Given the description of an element on the screen output the (x, y) to click on. 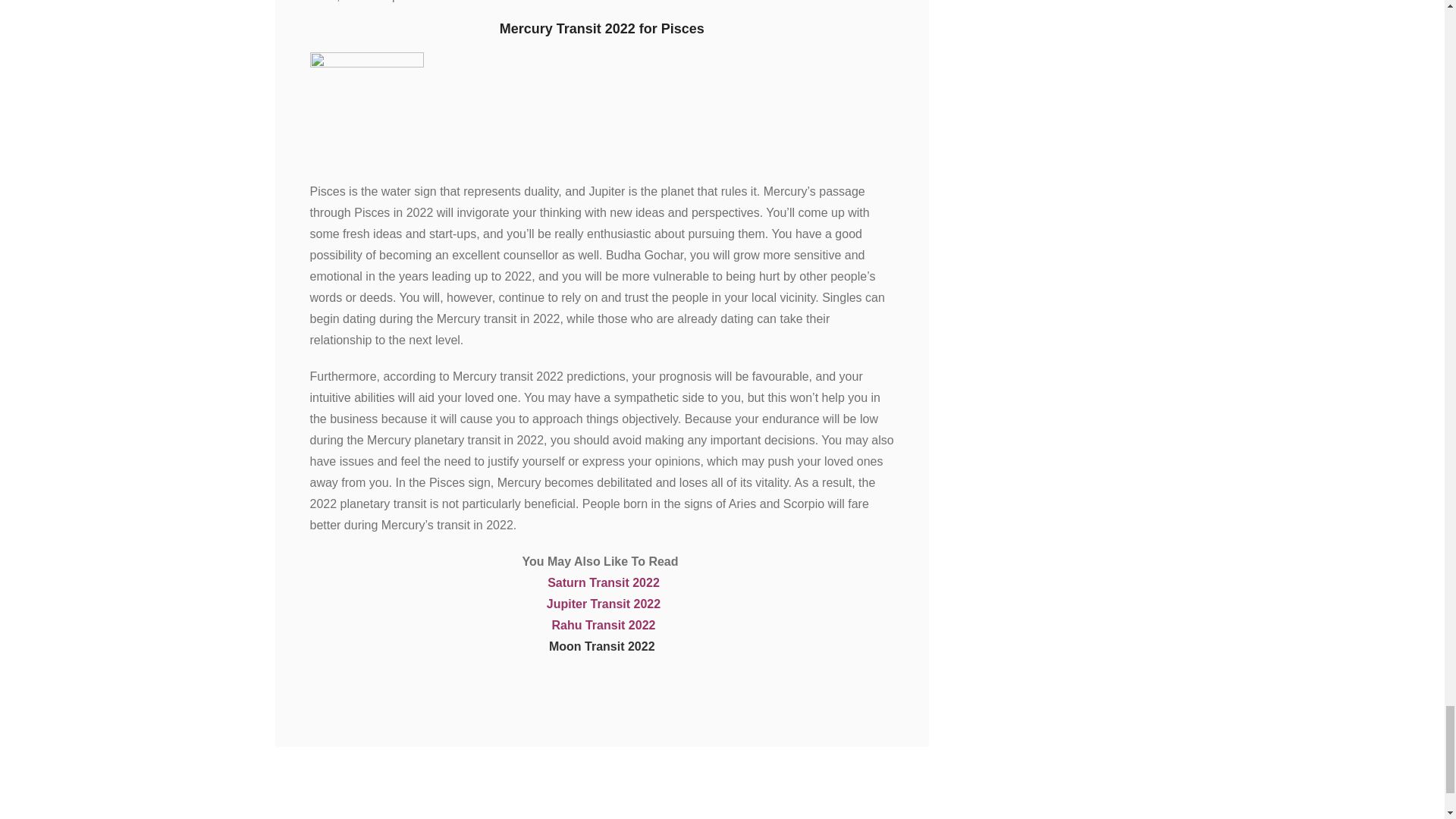
Transit 2022 (624, 582)
Jupiter Transit 2022 (604, 603)
Saturn (568, 582)
Moon Transit 2022 (601, 645)
Rahu Transit 2022 (603, 625)
